Given the description of an element on the screen output the (x, y) to click on. 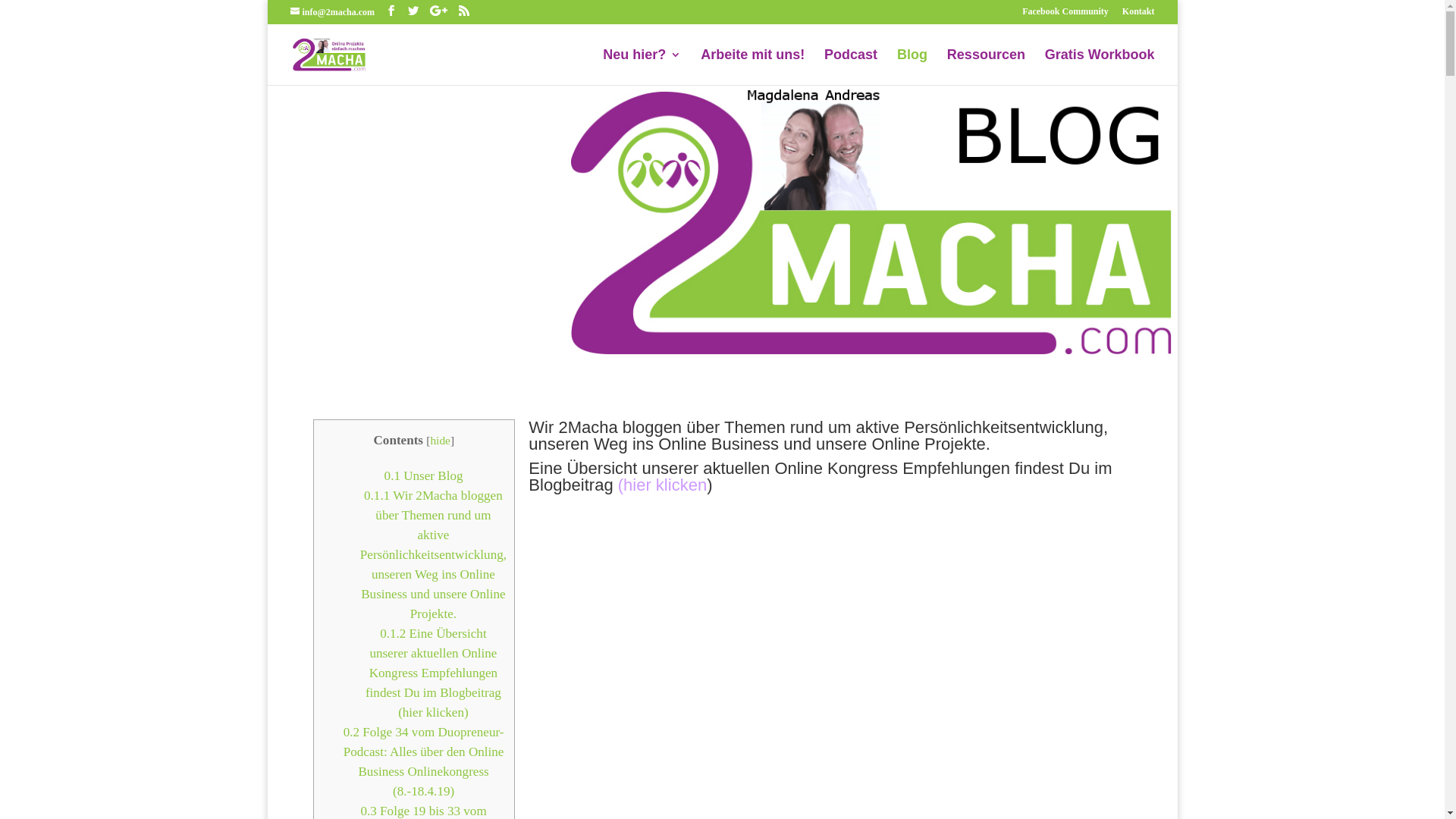
Arbeite mit uns! Element type: text (752, 66)
Kontakt Element type: text (1138, 14)
Podcast Element type: text (850, 66)
hide Element type: text (439, 439)
info@2macha.com Element type: text (331, 11)
Ressourcen Element type: text (986, 66)
Facebook Community Element type: text (1065, 14)
Neu hier? Element type: text (641, 66)
 im Blogbeitrag (hier klicken) Element type: text (819, 476)
0.1 Unser Blog Element type: text (423, 475)
Gratis Workbook Element type: text (1099, 66)
Blog Element type: text (912, 66)
